Given the description of an element on the screen output the (x, y) to click on. 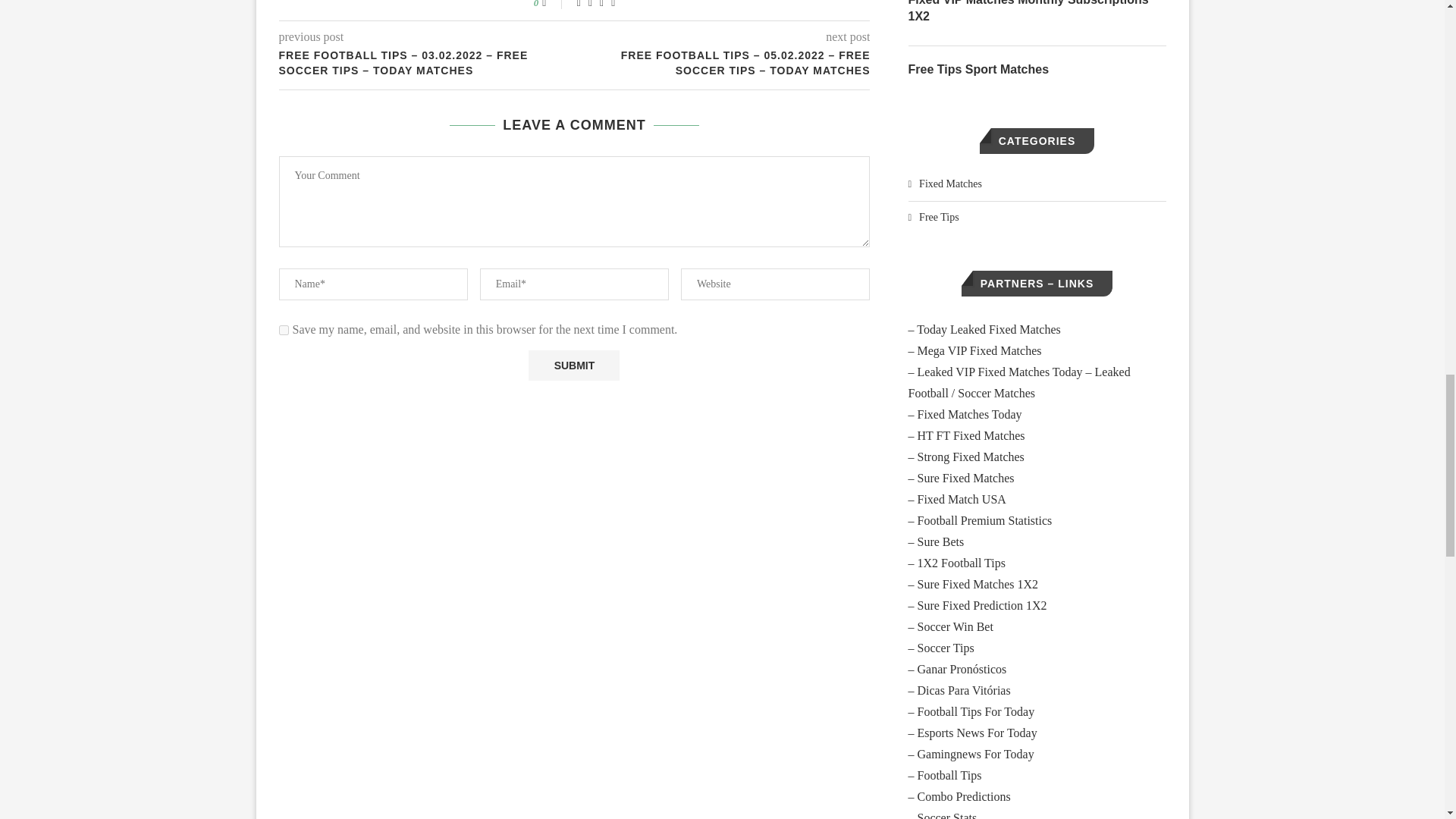
Submit (574, 365)
yes (283, 329)
Like (553, 4)
